Given the description of an element on the screen output the (x, y) to click on. 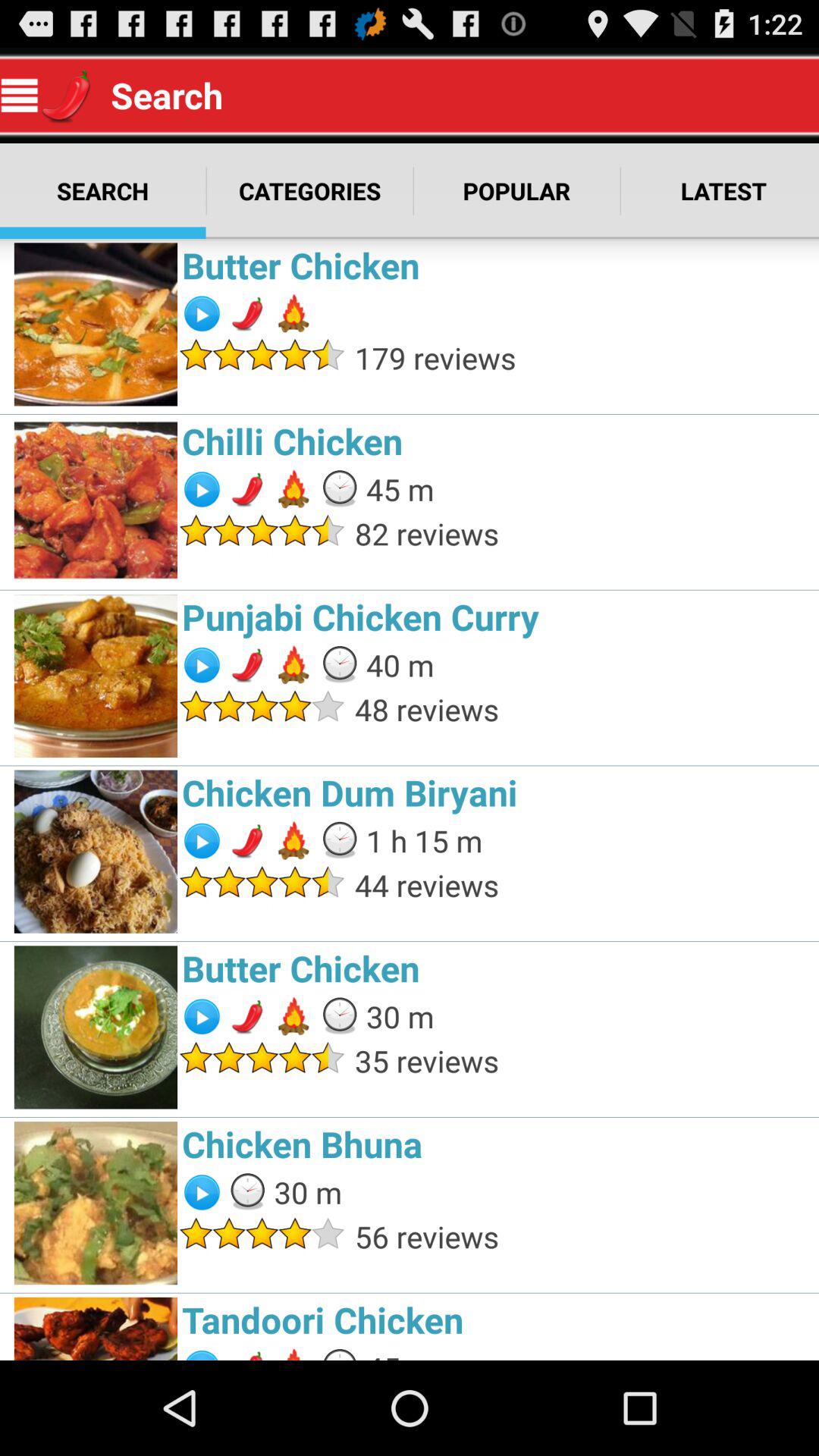
flip until punjabi chicken curry (496, 616)
